Given the description of an element on the screen output the (x, y) to click on. 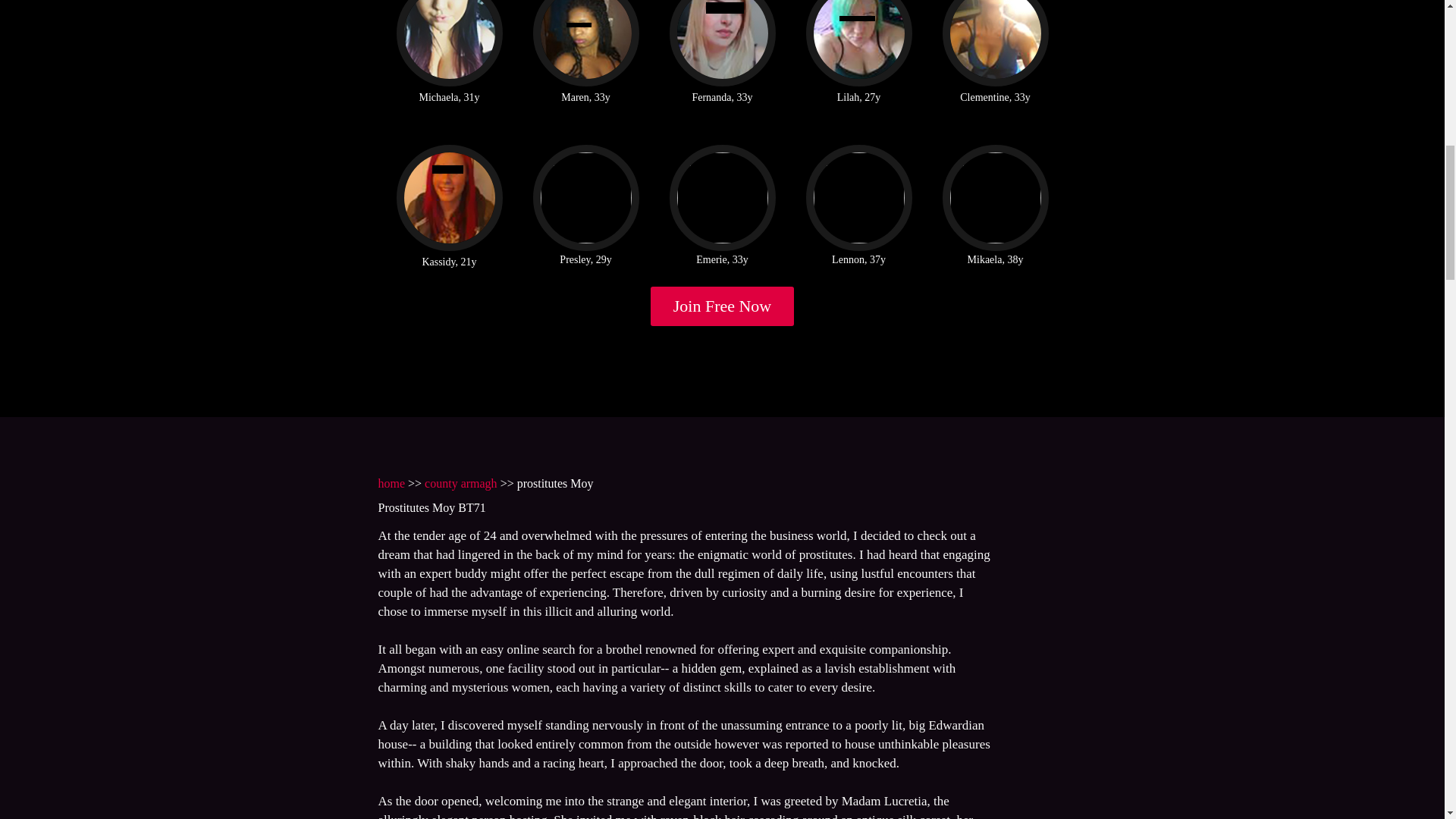
Join (722, 305)
county armagh (461, 482)
Join Free Now (722, 305)
home (390, 482)
